Given the description of an element on the screen output the (x, y) to click on. 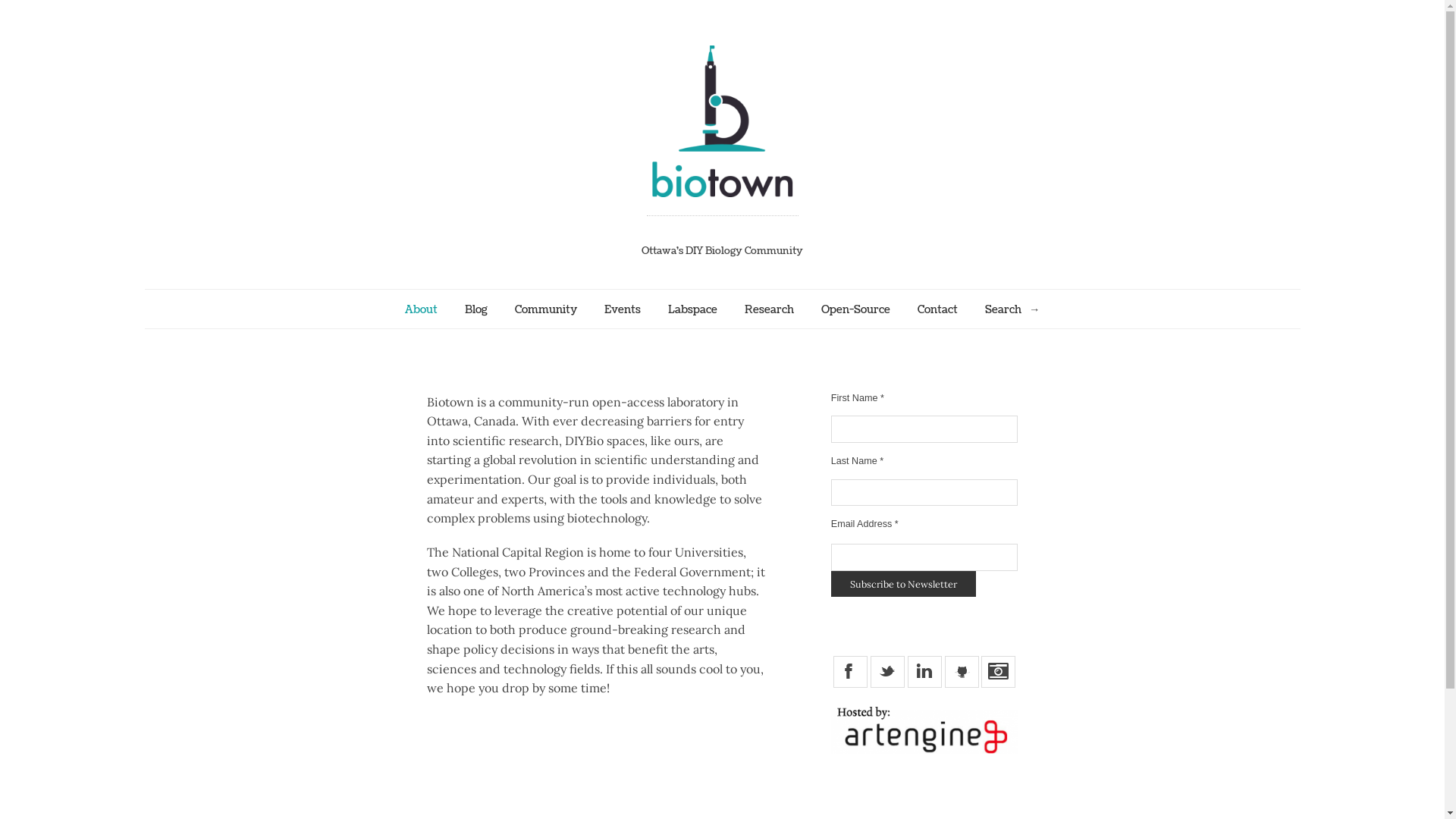
Research Element type: text (768, 309)
Enter keyword Element type: hover (1011, 309)
Labspace Element type: text (691, 309)
_ Element type: text (887, 671)
j Element type: text (961, 671)
v Element type: text (924, 671)
Blog Element type: text (475, 309)
Contact Element type: text (937, 309)
Community Element type: text (545, 309)
Open-Source Element type: text (854, 309)
Subscribe to Newsletter Element type: text (903, 583)
Search it Element type: hover (1034, 309)
Events Element type: text (621, 309)
X Element type: text (850, 671)
About Element type: text (420, 309)
